Given the description of an element on the screen output the (x, y) to click on. 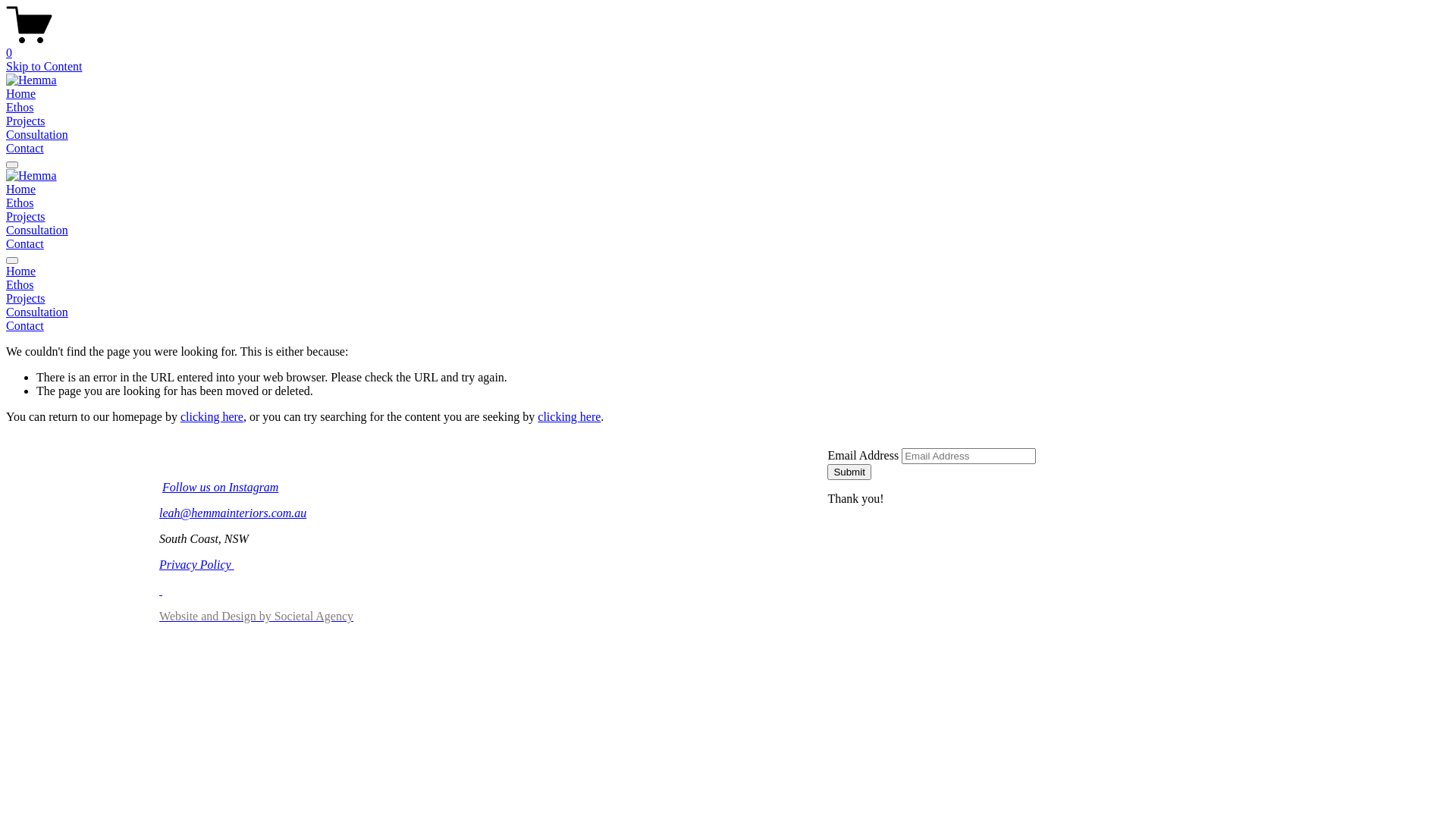
Consultation Element type: text (727, 312)
Contact Element type: text (727, 325)
Consultation Element type: text (37, 134)
Ethos Element type: text (727, 284)
0 Element type: text (727, 45)
Consultation Element type: text (37, 229)
Projects Element type: text (25, 120)
Home Element type: text (20, 188)
clicking here Element type: text (568, 416)
clicking here Element type: text (211, 416)
Follow us on Instagram Element type: text (220, 486)
  Element type: text (160, 589)
Home Element type: text (20, 93)
Submit Element type: text (848, 472)
Ethos Element type: text (19, 106)
Privacy Policy  Element type: text (196, 564)
Contact Element type: text (24, 243)
Projects Element type: text (25, 216)
Website and Design by Societal Agency Element type: text (256, 615)
leah@hemmainteriors.com.au Element type: text (232, 512)
Projects Element type: text (727, 298)
Contact Element type: text (24, 147)
Skip to Content Element type: text (43, 65)
Ethos Element type: text (19, 202)
Home Element type: text (727, 271)
